Given the description of an element on the screen output the (x, y) to click on. 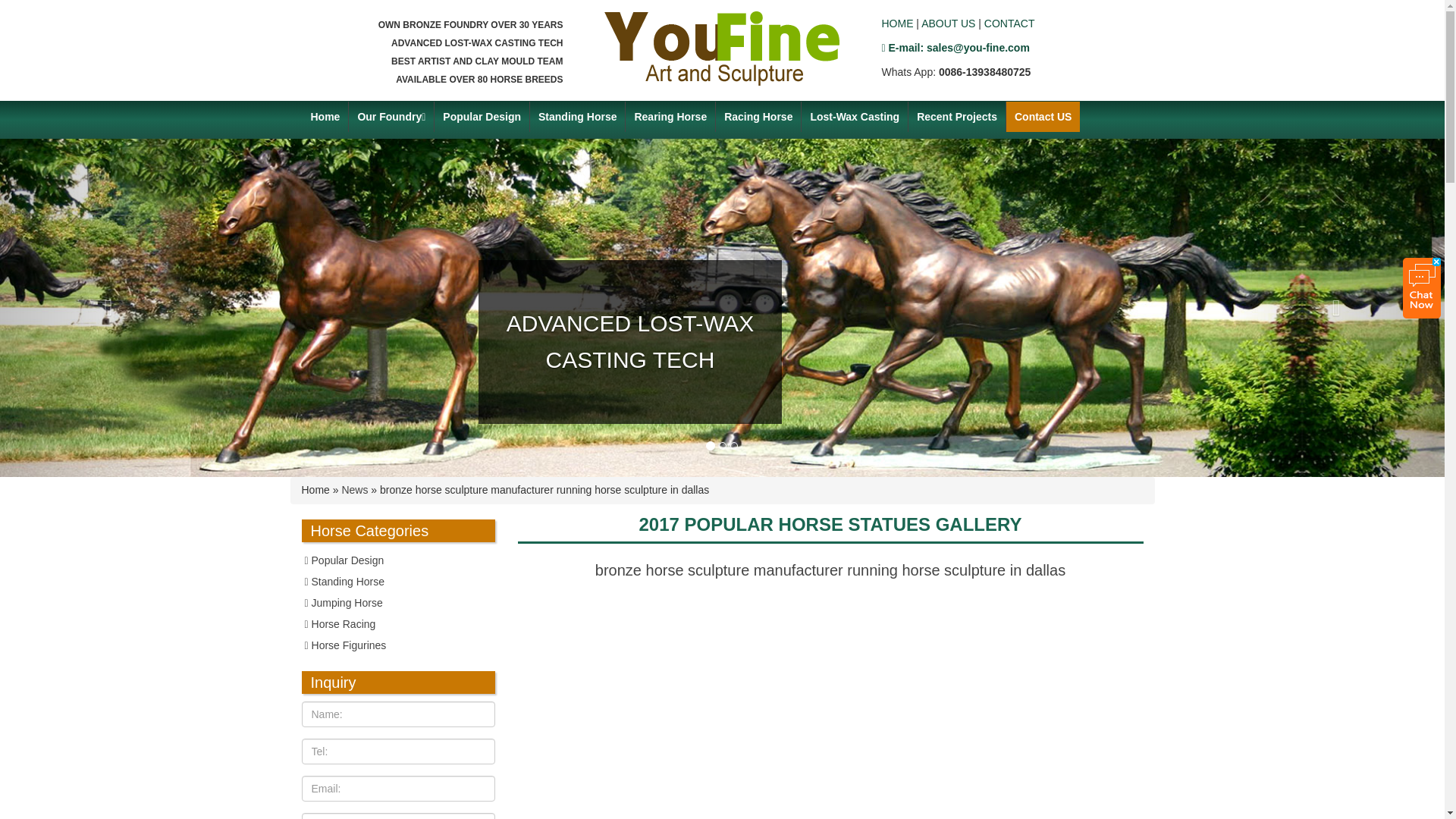
Popular Design (398, 559)
Home (324, 116)
Youfine Horse sculptures (896, 23)
HOME (896, 23)
Contact US (1043, 116)
Recent Projects (957, 116)
Standing Horse (398, 581)
Horse Racing (758, 116)
lost-wax casting of bronze horse sculpture (854, 116)
Popular Design (481, 116)
ABOUT US (948, 23)
Standing Horse (398, 581)
About of Youfine horse statues (948, 23)
Our Foundry (391, 116)
CONTACT (1009, 23)
